Given the description of an element on the screen output the (x, y) to click on. 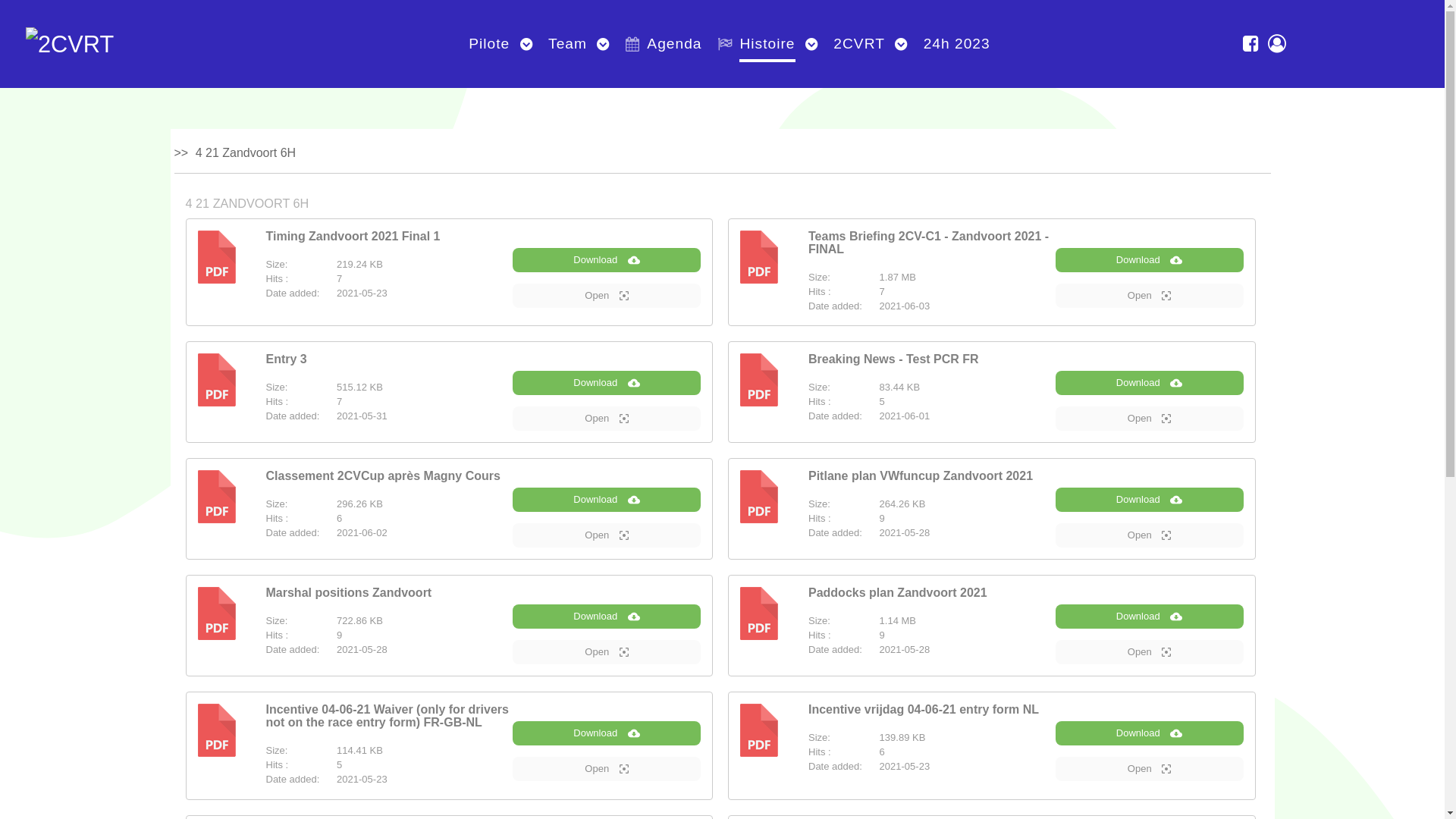
Download Element type: text (606, 499)
Incentive vrijdag 04-06-21 entry form NL Element type: text (923, 708)
Download Element type: text (606, 733)
Open Element type: text (1149, 652)
Timing Zandvoort 2021 Final 1 Element type: text (352, 235)
Entry 3 Element type: text (285, 358)
Open Element type: text (1149, 418)
Teams Briefing 2CV-C1 - Zandvoort 2021 - FINAL Element type: text (928, 242)
Open Element type: text (1149, 768)
Open Element type: text (1149, 535)
Download Element type: text (1149, 733)
Marshal positions Zandvoort Element type: text (348, 592)
Agenda Element type: text (663, 44)
Download Element type: text (1149, 499)
Paddocks plan Zandvoort 2021 Element type: text (897, 592)
Breaking News - Test PCR FR Element type: text (893, 358)
Download Element type: text (1149, 382)
Download Element type: text (606, 382)
Download Element type: text (606, 616)
Download Element type: text (1149, 616)
Download Element type: text (606, 259)
Pitlane plan VWfuncup Zandvoort 2021 Element type: text (920, 475)
Open Element type: text (606, 535)
24h 2023 Element type: text (956, 44)
Open Element type: text (606, 295)
Open Element type: text (606, 418)
Download Element type: text (1149, 259)
Open Element type: text (606, 768)
Open Element type: text (606, 652)
Open Element type: text (1149, 295)
